Given the description of an element on the screen output the (x, y) to click on. 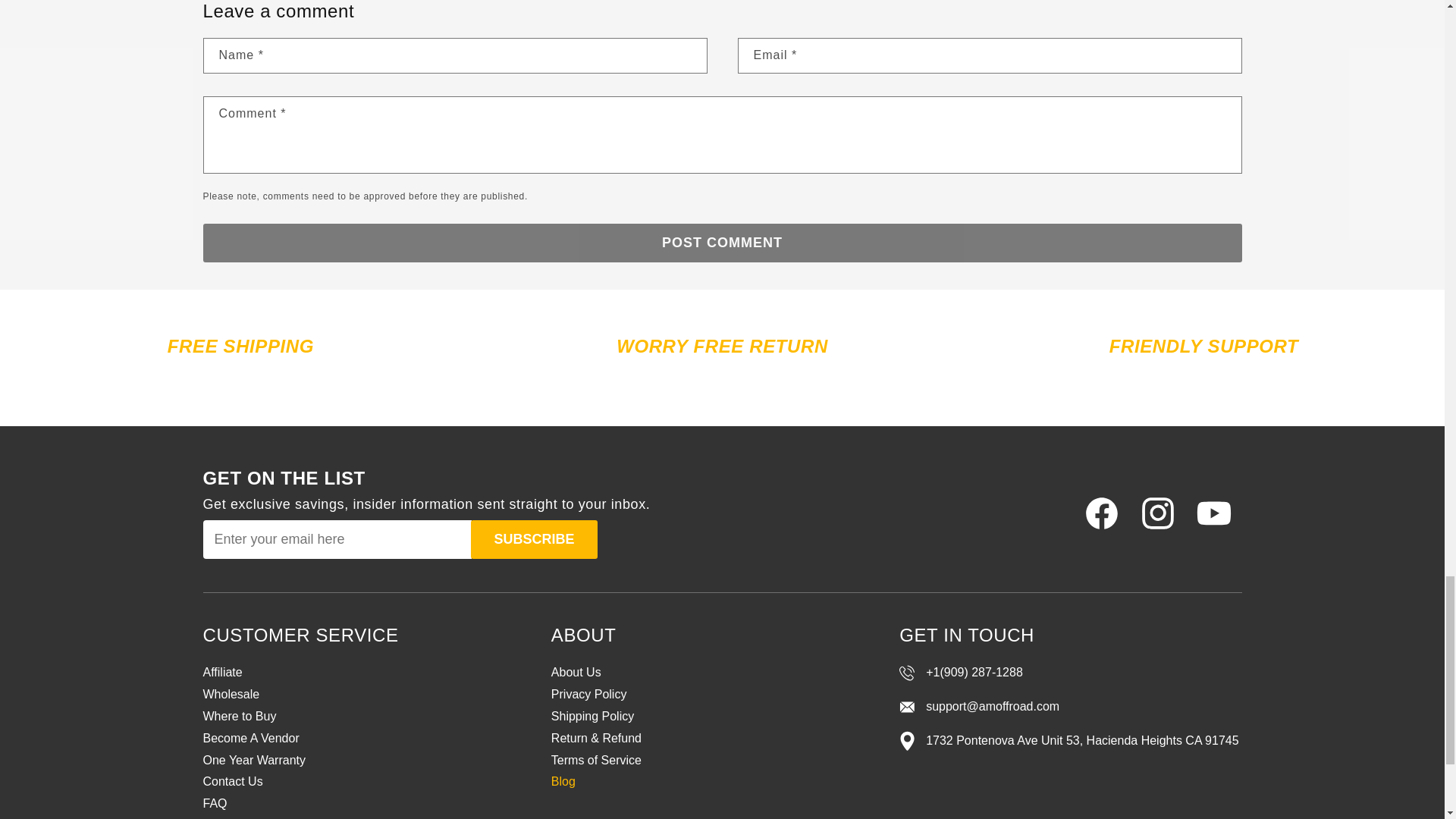
Post comment (722, 242)
